Given the description of an element on the screen output the (x, y) to click on. 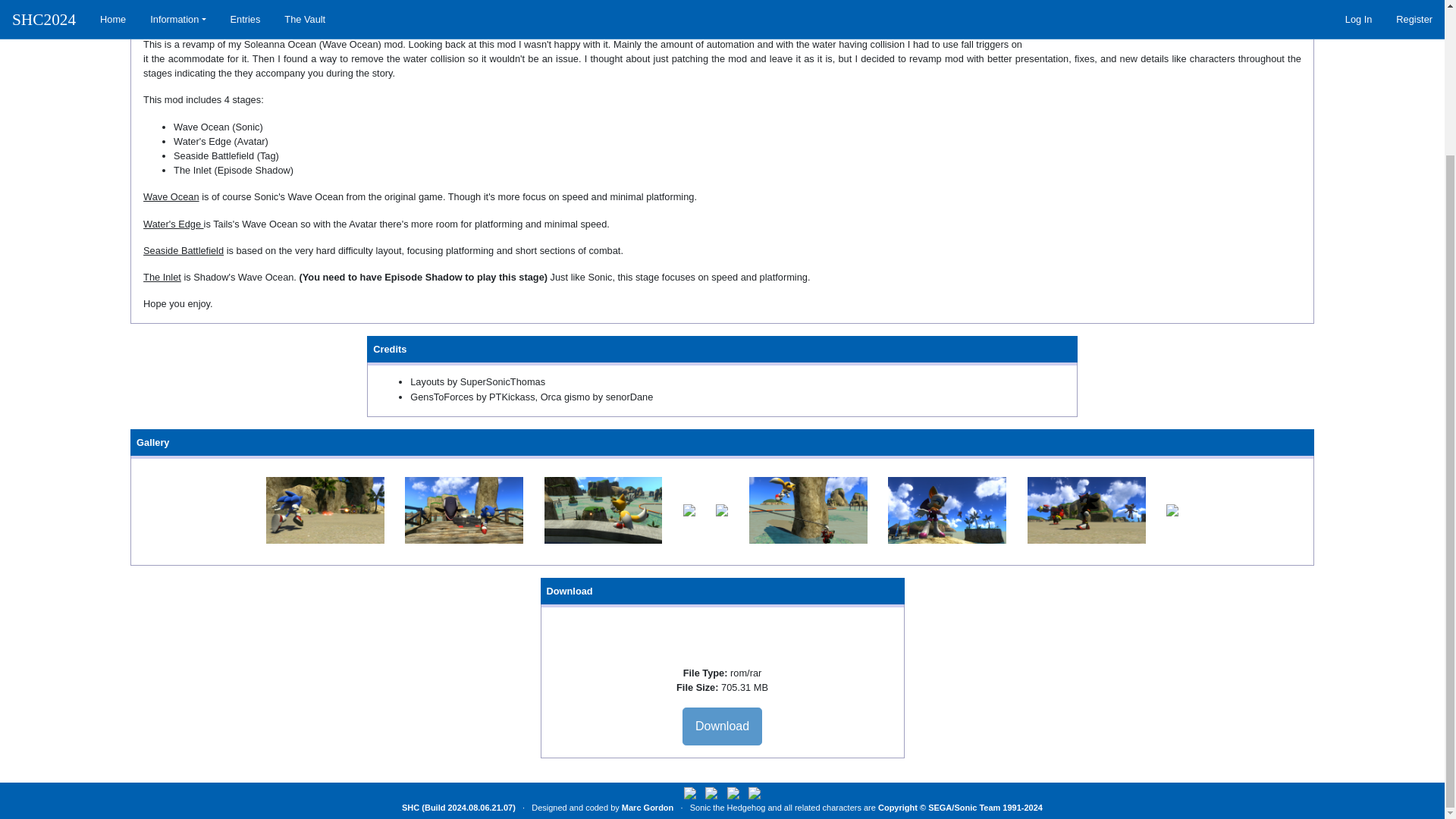
Sonic Team (976, 807)
SEGA (940, 807)
Marc Gordon (646, 807)
Download (721, 726)
